Given the description of an element on the screen output the (x, y) to click on. 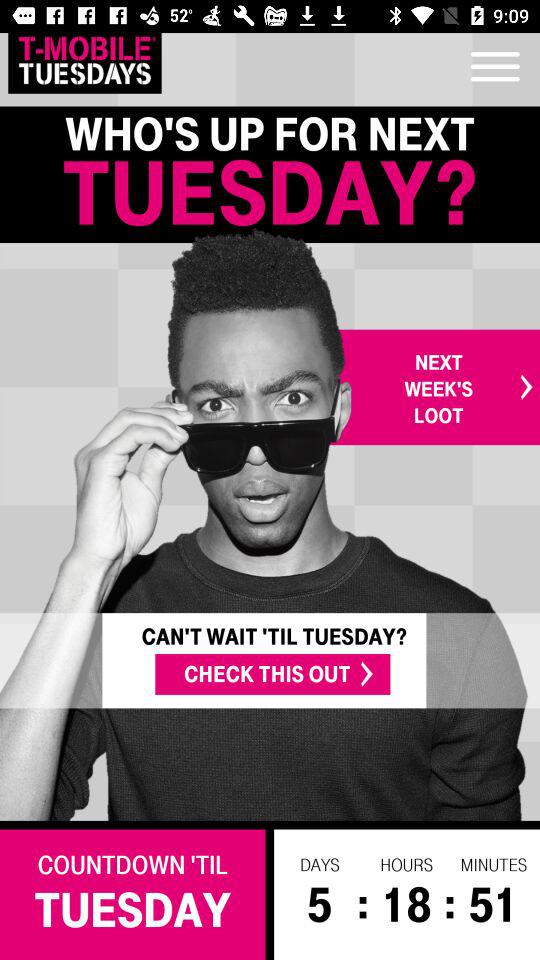
select icon above who s up (84, 60)
